Given the description of an element on the screen output the (x, y) to click on. 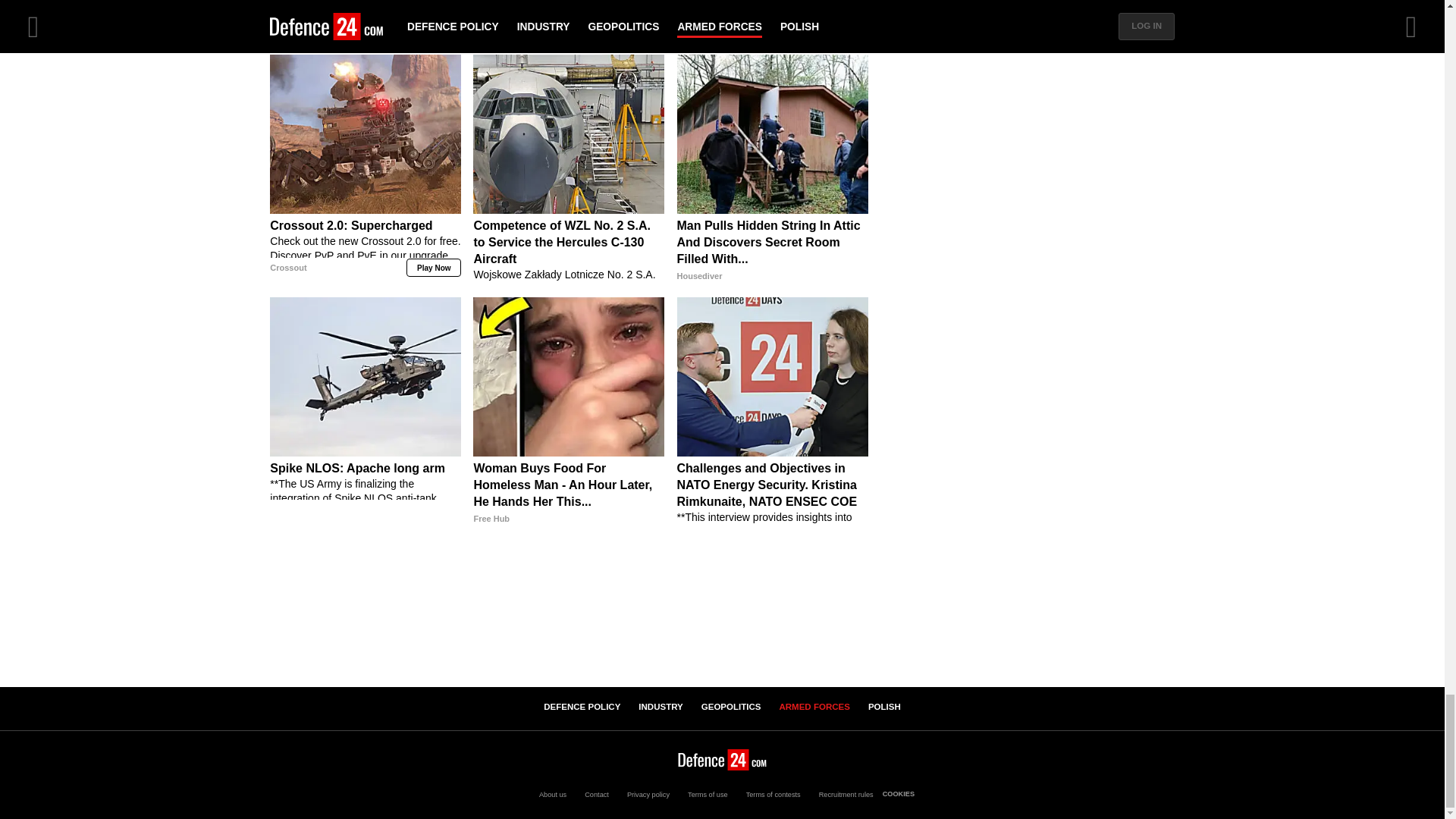
Spike NLOS: Apache long arm (365, 375)
Crossout 2.0: Supercharged (365, 133)
przez Taboola (840, 41)
Play Now (433, 267)
Spike NLOS: Apache long arm (365, 493)
Crossout 2.0: Supercharged (365, 250)
Linki promowane (780, 41)
